Given the description of an element on the screen output the (x, y) to click on. 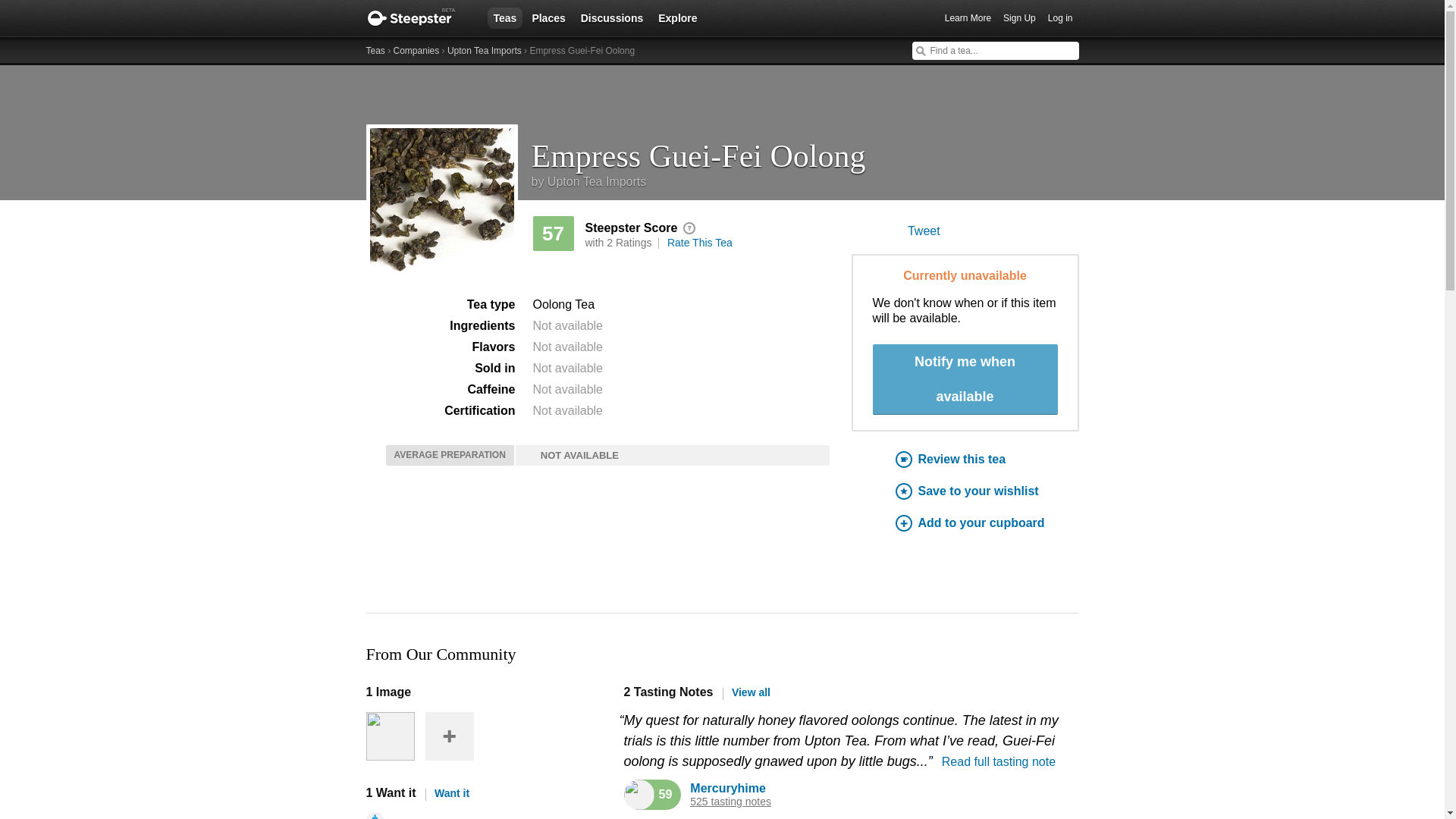
Discussions (612, 17)
Mercuryhime (727, 787)
Read full tasting note (998, 761)
525 tasting notes (730, 801)
Log in (1060, 18)
Oolong Tea (563, 304)
Want it (446, 793)
Add to your cupboard (986, 522)
Sign Up (1019, 18)
Places (547, 17)
